Given the description of an element on the screen output the (x, y) to click on. 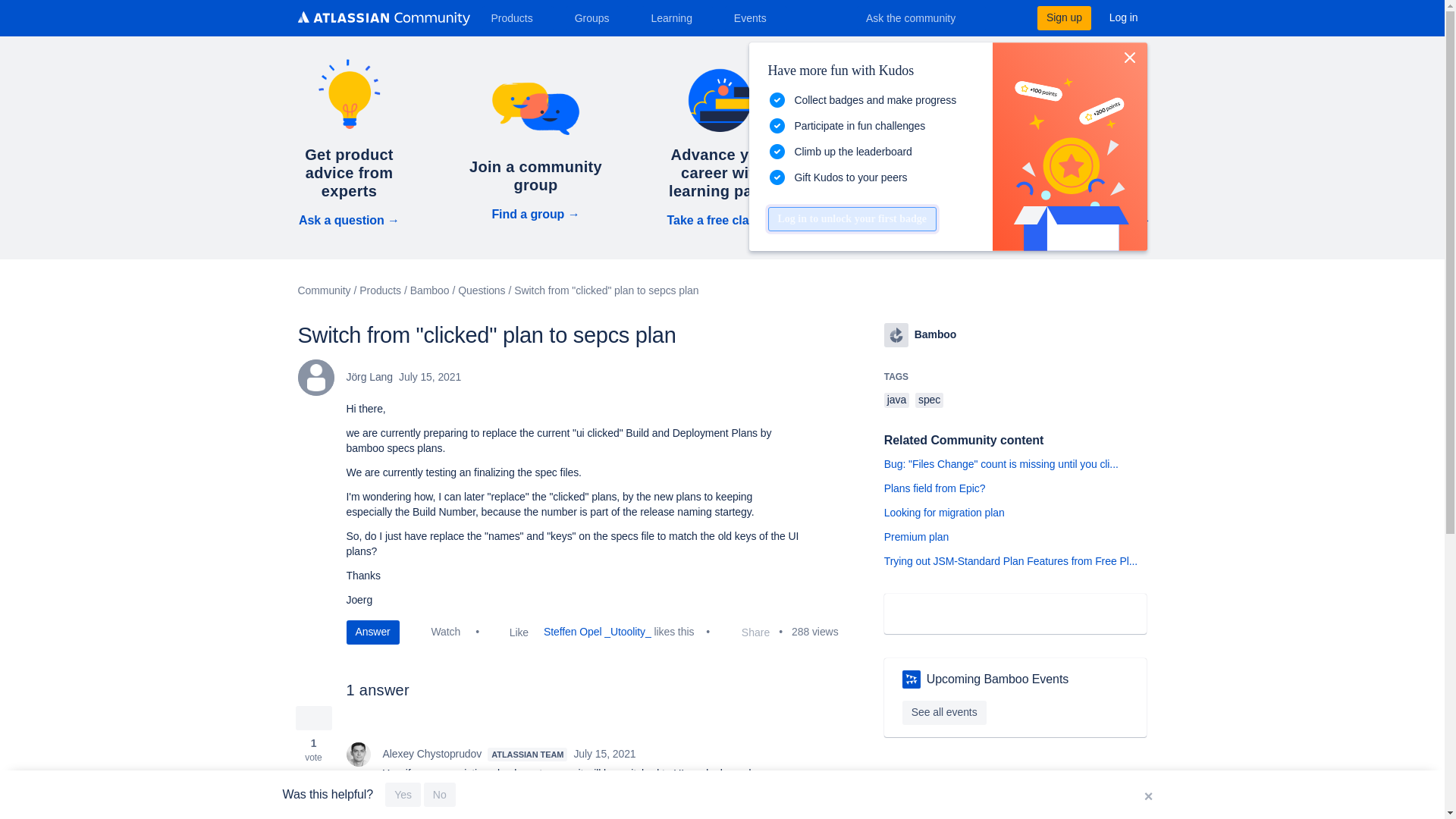
Groups (598, 17)
Alexey Chystoprudov (357, 754)
AUG Leaders (911, 679)
Products (517, 17)
Atlassian Community logo (382, 18)
Learning (676, 17)
Log in to unlock your first badge (851, 218)
Log in (1123, 17)
Sign up (1063, 17)
Ask the community  (921, 17)
Bamboo (895, 334)
Events (756, 17)
Atlassian Community logo (382, 19)
